Given the description of an element on the screen output the (x, y) to click on. 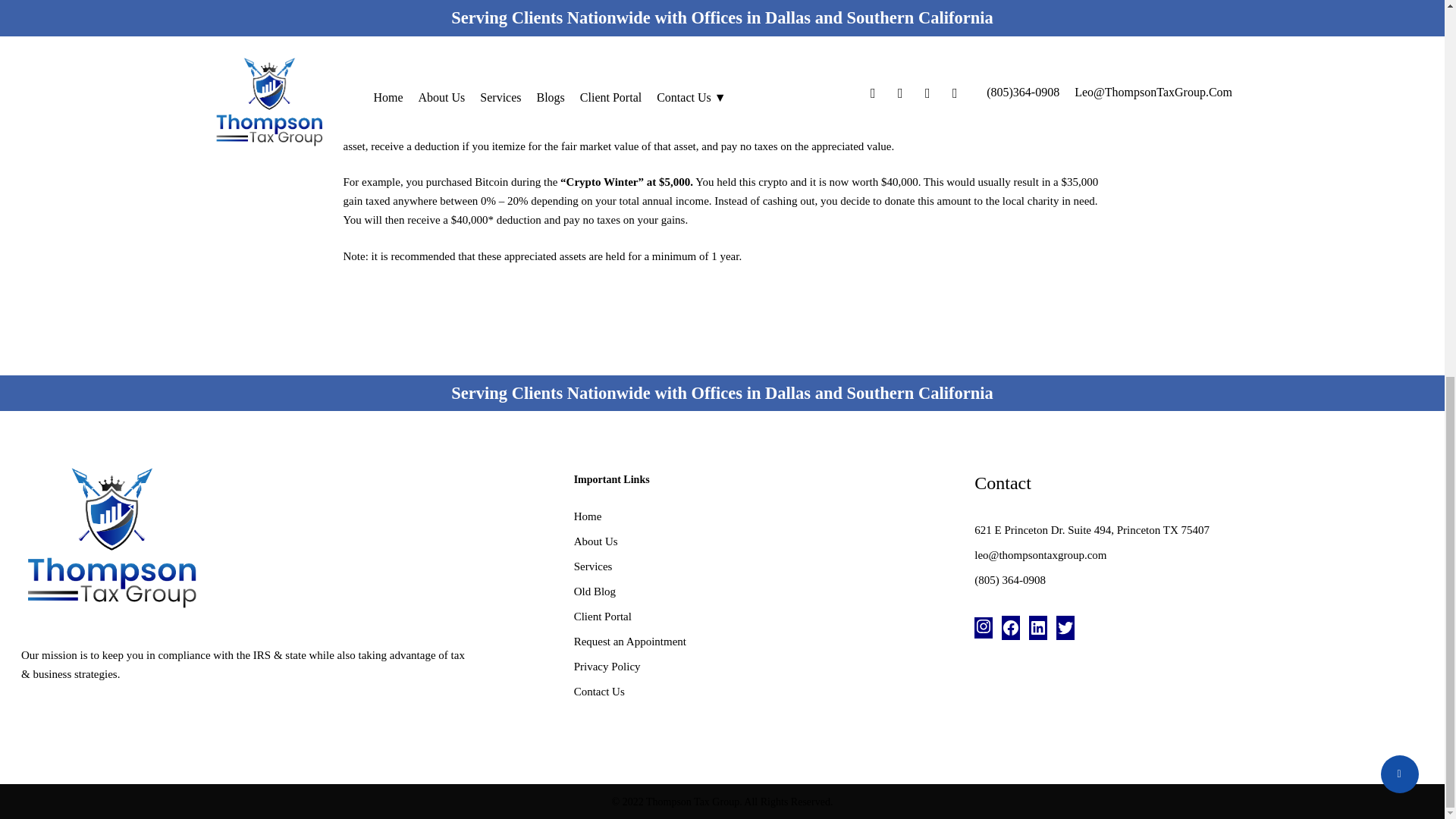
Old Blog (760, 591)
Privacy Policy (760, 666)
Request an Appointment (760, 641)
Facebook (1010, 628)
About Us (760, 541)
Services (760, 566)
Client Portal (760, 616)
Contact Us (760, 691)
Instagram (983, 626)
LinkedIn (1037, 628)
Home (760, 516)
